Given the description of an element on the screen output the (x, y) to click on. 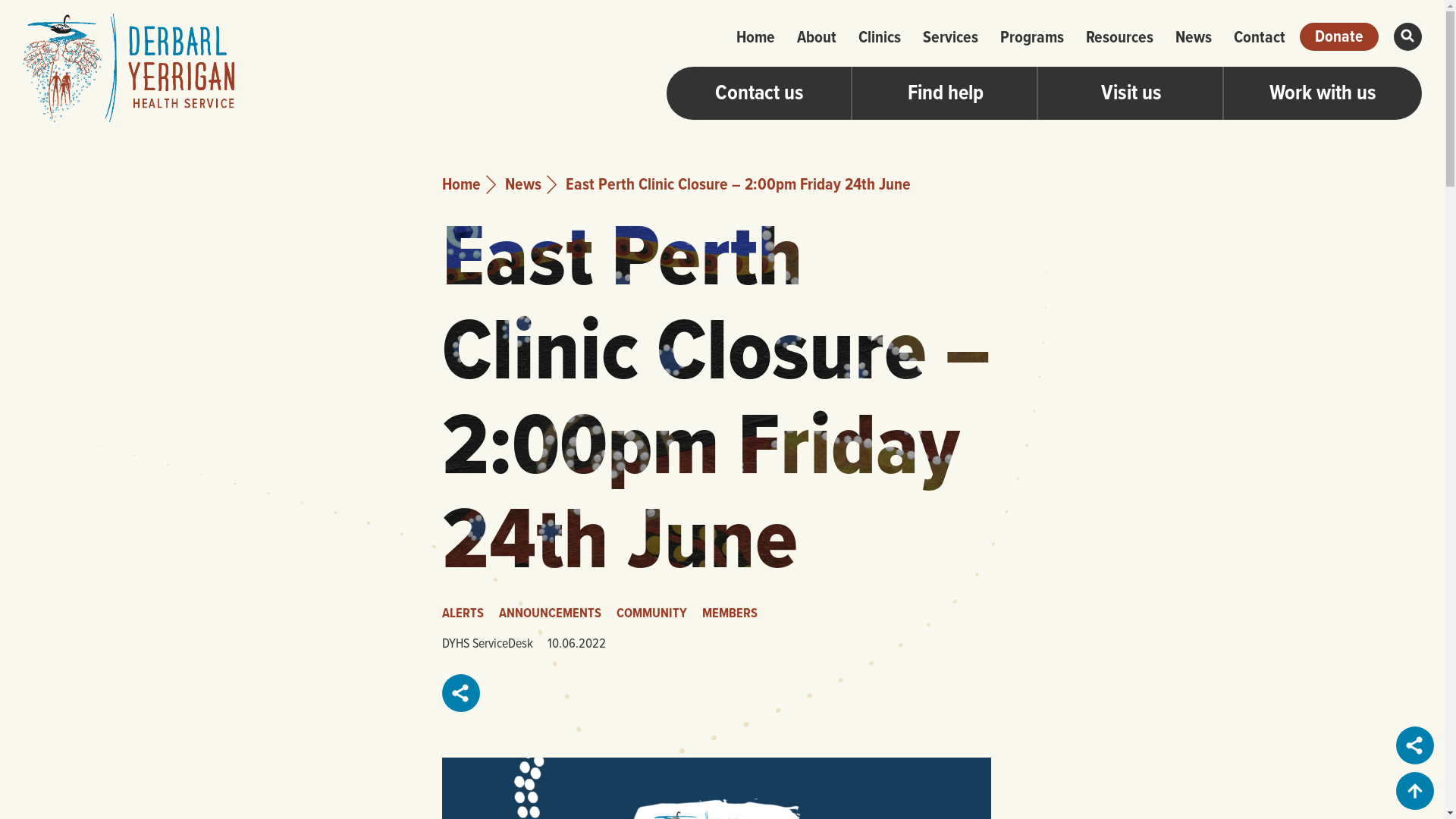
Home Element type: text (755, 36)
DYHS ServiceDesk Element type: text (492, 642)
News Element type: text (523, 183)
COMMUNITY Element type: text (656, 611)
ANNOUNCEMENTS Element type: text (555, 611)
Back to Top Element type: text (1415, 790)
Programs Element type: text (1032, 36)
share this page with others Element type: hover (460, 693)
Contact Element type: text (1259, 36)
Visit us Element type: text (1130, 92)
News Element type: text (1193, 36)
Contact us Element type: text (759, 92)
Services Element type: text (950, 36)
Resources Element type: text (1119, 36)
Home Element type: text (460, 183)
Clinics Element type: text (879, 36)
MEMBERS Element type: text (735, 611)
Find help Element type: text (945, 92)
Donate Element type: text (1338, 36)
ALERTS Element type: text (467, 611)
About Element type: text (816, 36)
Work with us Element type: text (1322, 92)
share this page with others Element type: hover (1415, 745)
